Given the description of an element on the screen output the (x, y) to click on. 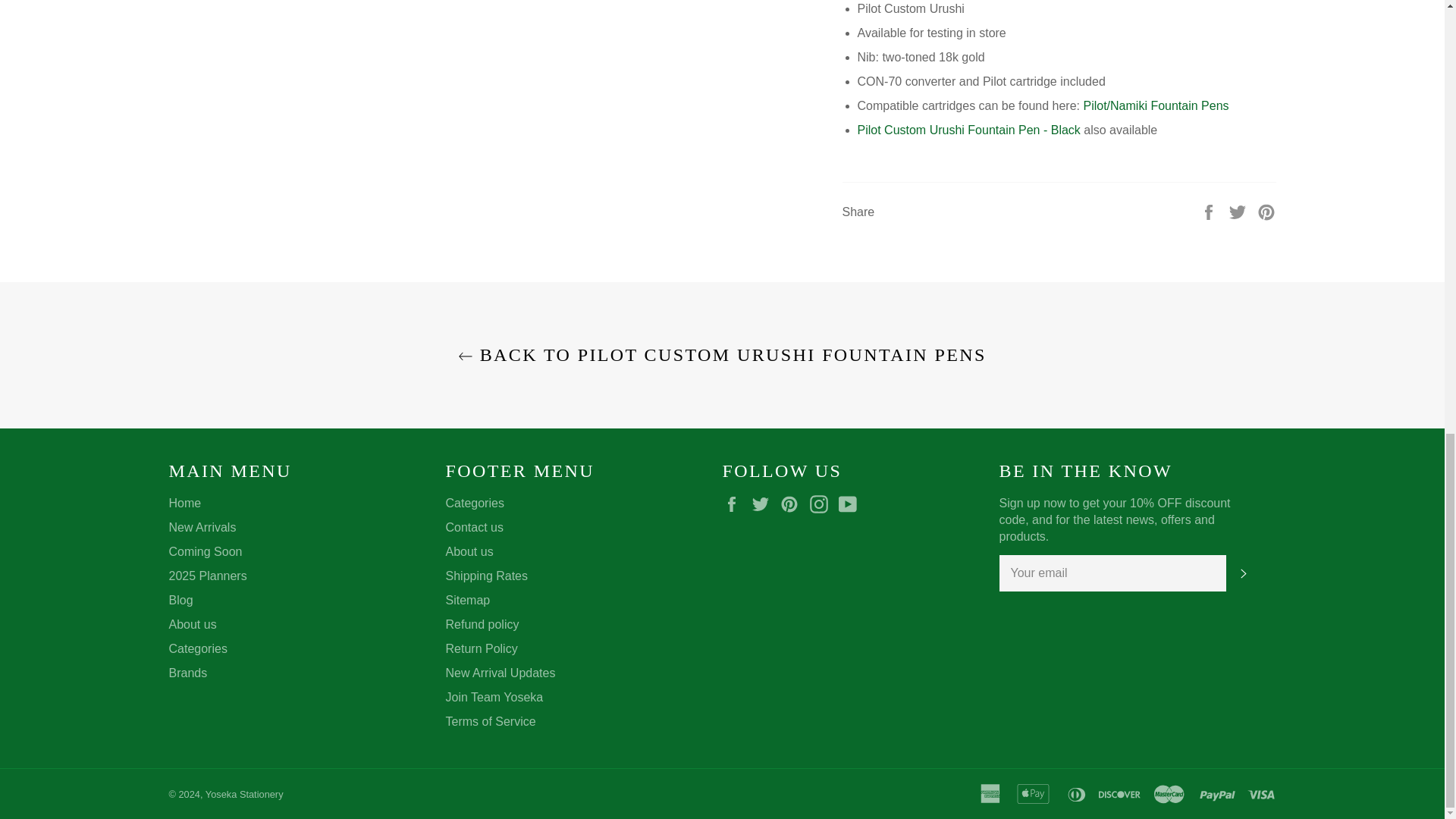
Yoseka Stationery on Pinterest (793, 504)
Yoseka Stationery on Twitter (764, 504)
Pin on Pinterest (1266, 210)
Tweet on Twitter (1238, 210)
Yoseka Stationery on Facebook (735, 504)
Yoseka Stationery on YouTube (851, 504)
Share on Facebook (1210, 210)
Yoseka Stationery on Instagram (822, 504)
